Given the description of an element on the screen output the (x, y) to click on. 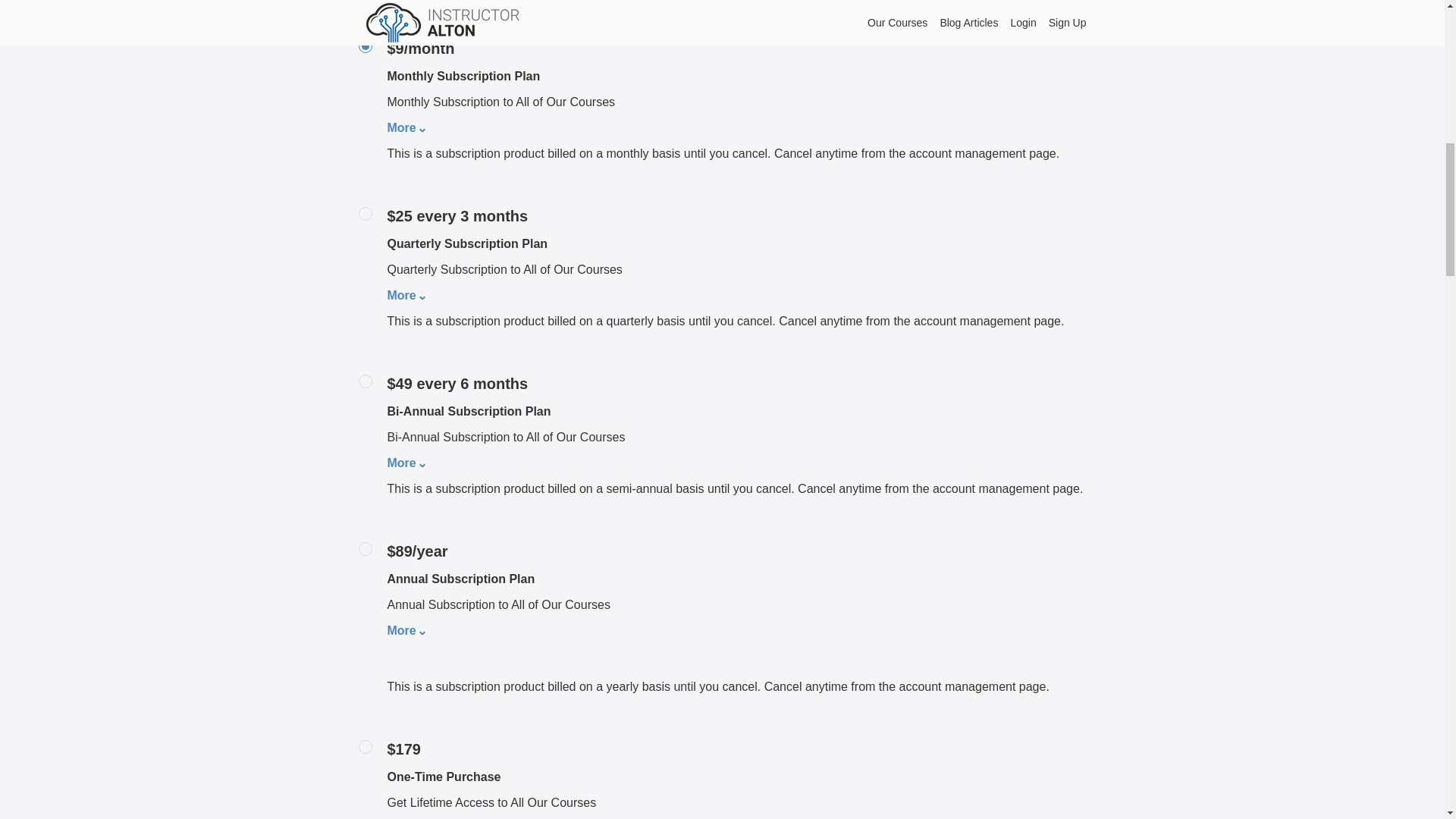
More (403, 630)
More (403, 463)
More (403, 295)
More (403, 127)
